Given the description of an element on the screen output the (x, y) to click on. 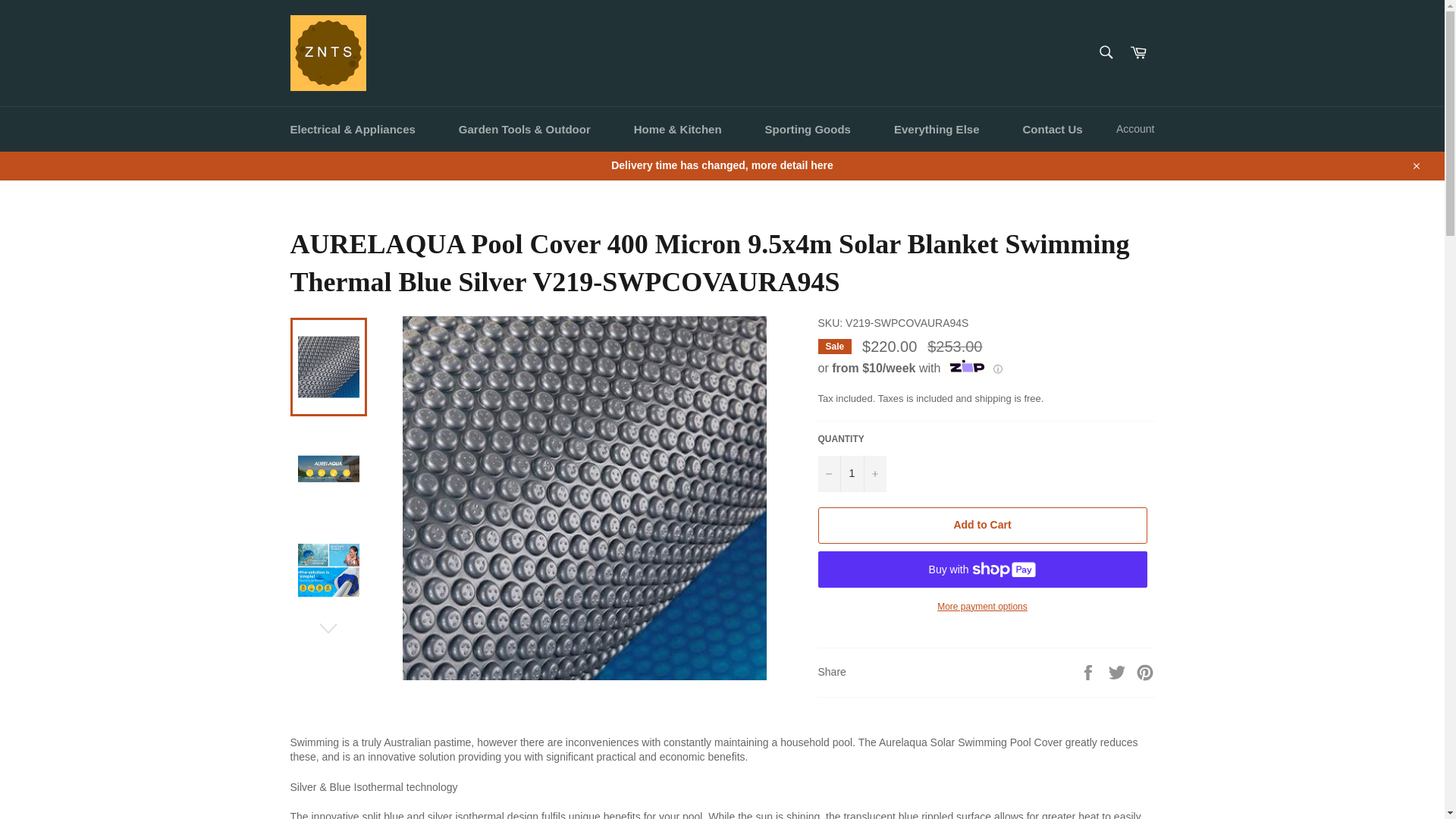
Pin on Pinterest (1144, 671)
1 (850, 473)
Tweet on Twitter (1118, 671)
Share on Facebook (1089, 671)
